Given the description of an element on the screen output the (x, y) to click on. 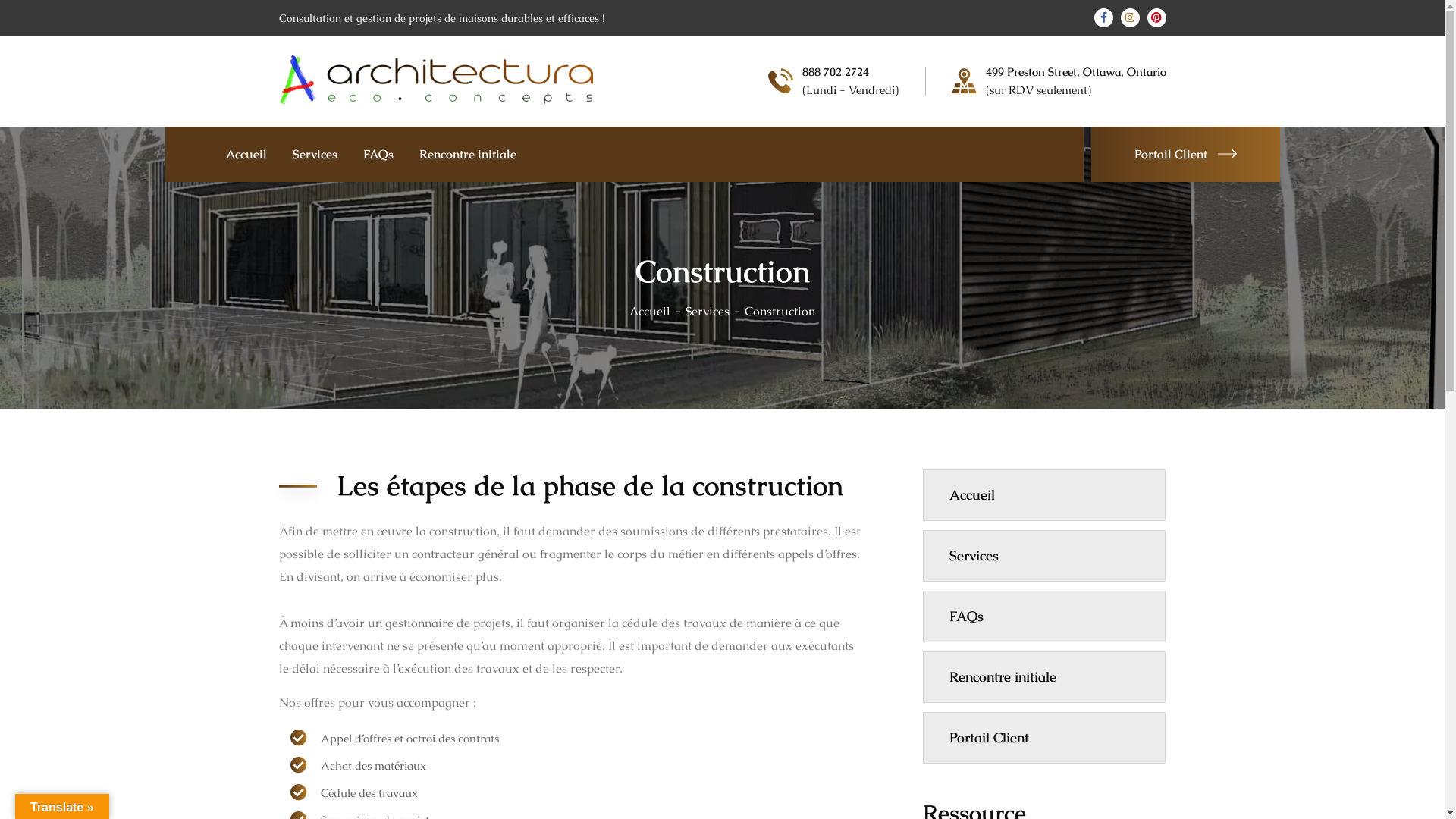
Services Element type: text (1043, 555)
Services Element type: text (714, 311)
Services Element type: text (314, 154)
Portail Client Element type: text (1184, 154)
Accueil Element type: text (657, 311)
Portail Client Element type: text (1043, 737)
FAQs Element type: text (1043, 616)
Accueil Element type: text (1043, 494)
Rencontre initiale Element type: text (1043, 676)
Architectura Element type: hover (436, 79)
Accueil Element type: text (245, 154)
FAQs Element type: text (377, 154)
Rencontre initiale Element type: text (466, 154)
